Given the description of an element on the screen output the (x, y) to click on. 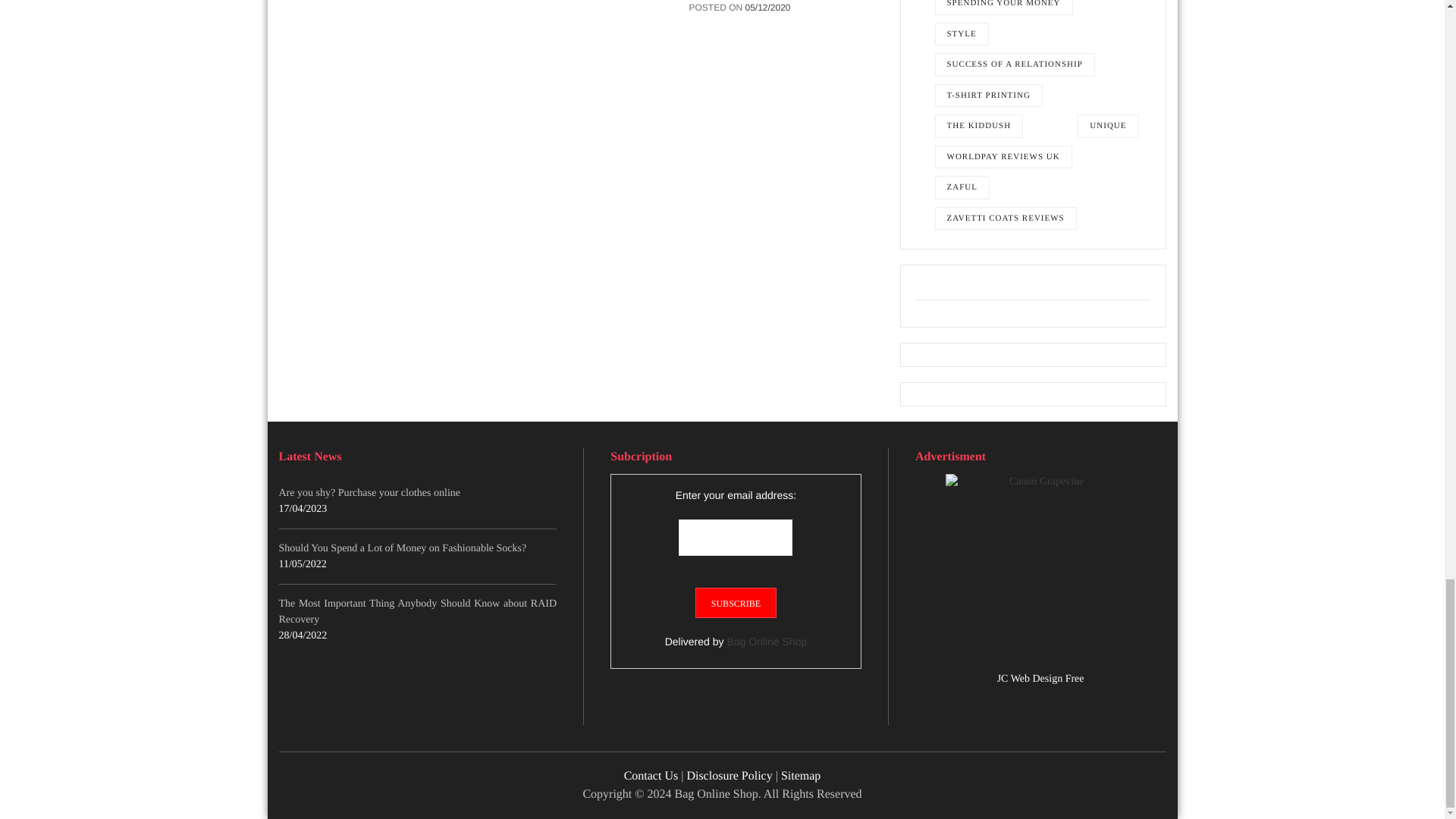
Subscribe (735, 603)
